Given the description of an element on the screen output the (x, y) to click on. 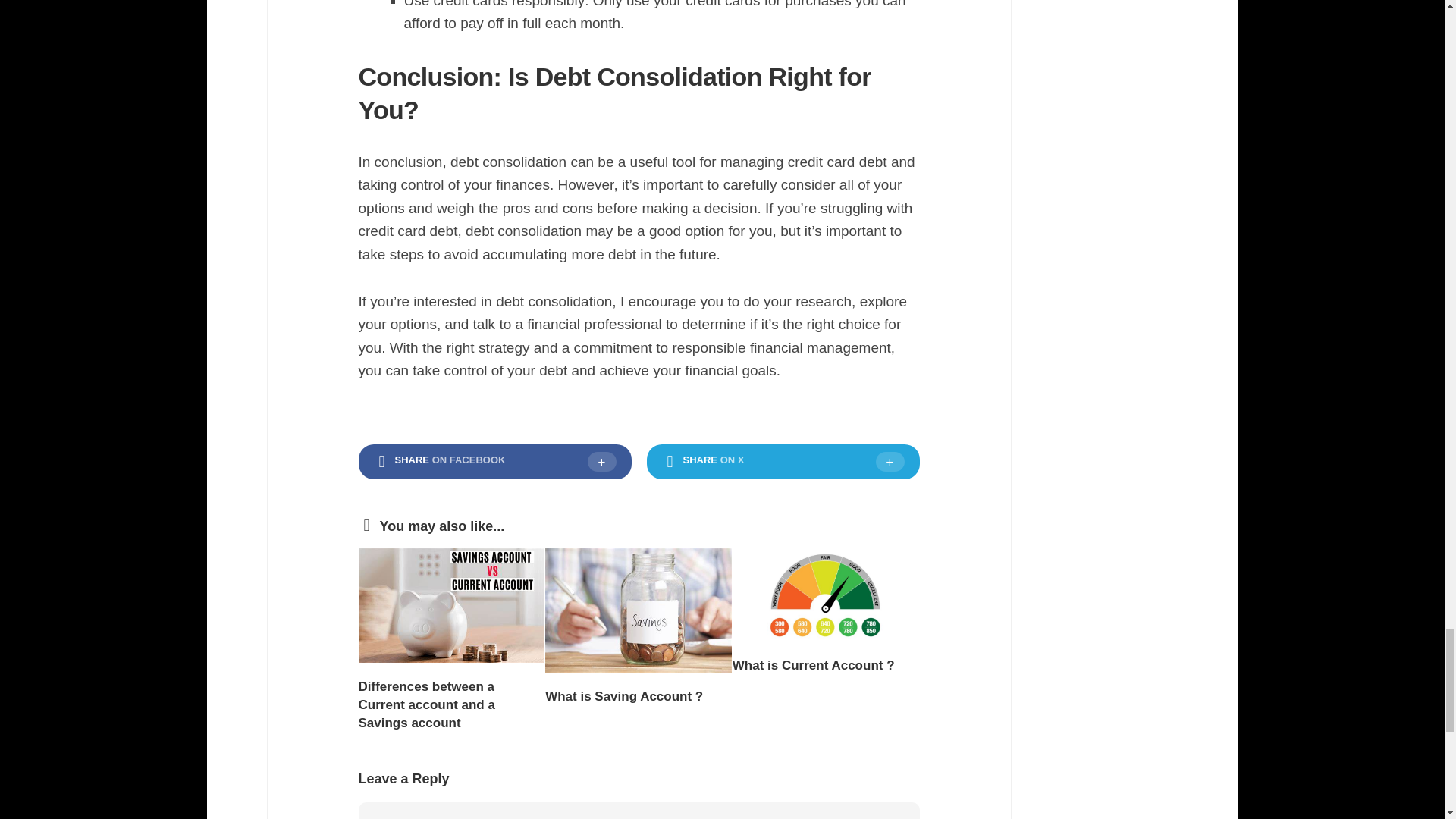
SHARE ON FACEBOOK (494, 461)
What is Current Account ? (813, 665)
What is Saving Account ? (623, 696)
SHARE ON X (782, 461)
Differences between a Current account and a Savings account (426, 704)
